Given the description of an element on the screen output the (x, y) to click on. 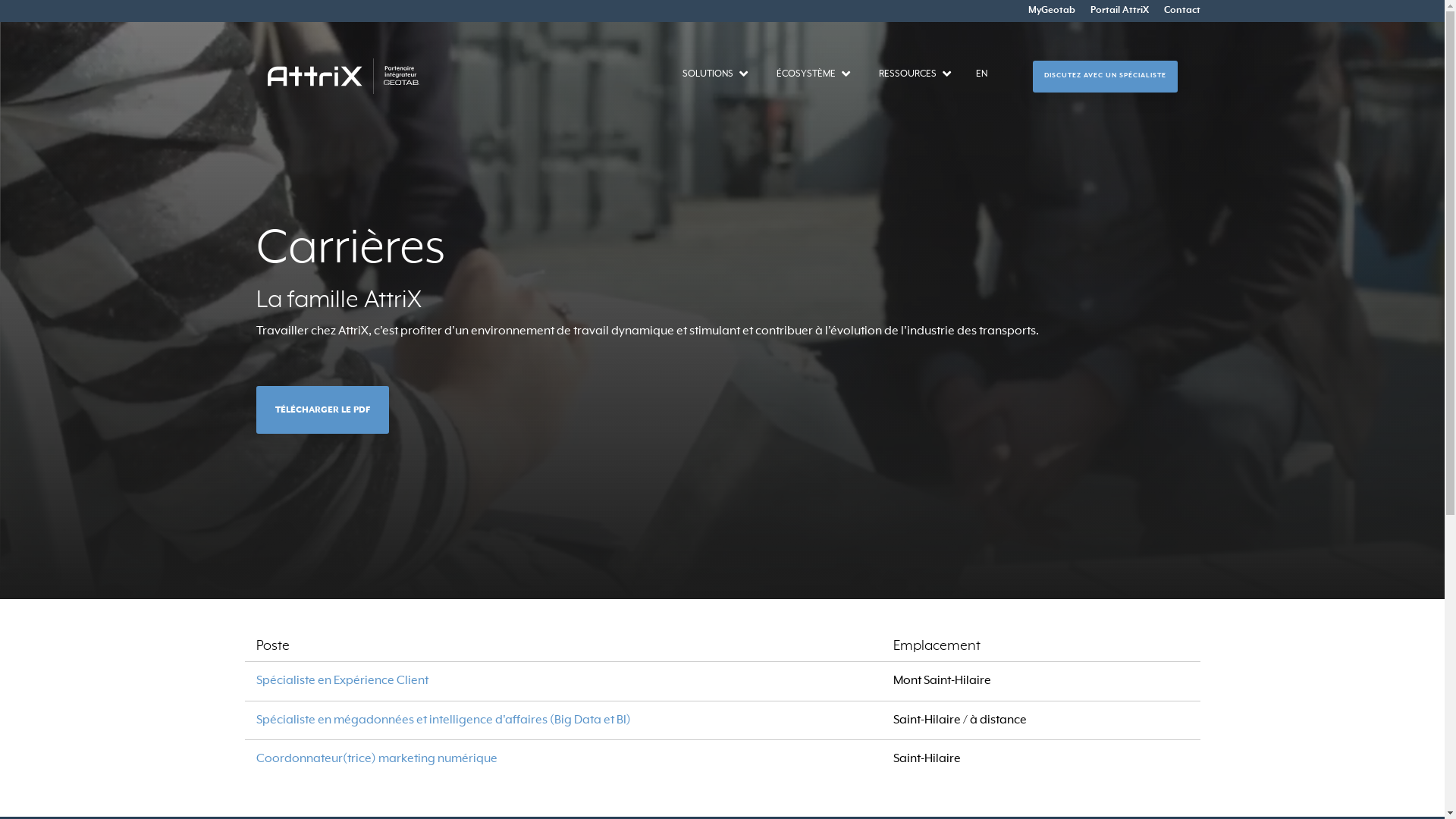
SOLUTIONS Element type: text (707, 74)
EN Element type: text (980, 76)
Contact Element type: text (1173, 10)
MyGeotab Element type: text (1044, 10)
RESSOURCES Element type: text (906, 74)
Portail AttriX Element type: text (1111, 10)
EN Element type: text (980, 74)
